Given the description of an element on the screen output the (x, y) to click on. 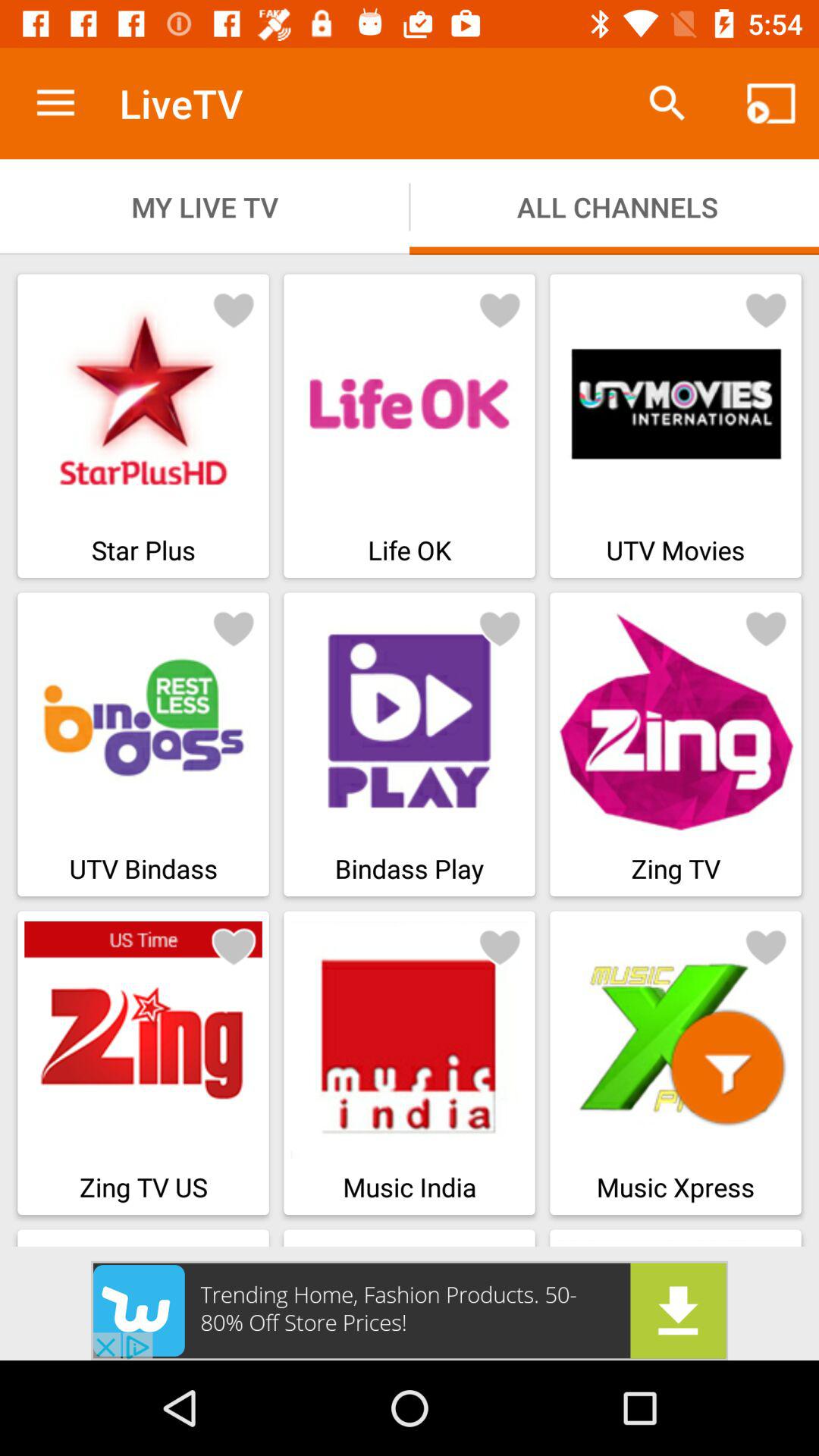
mark as favorite (766, 309)
